Given the description of an element on the screen output the (x, y) to click on. 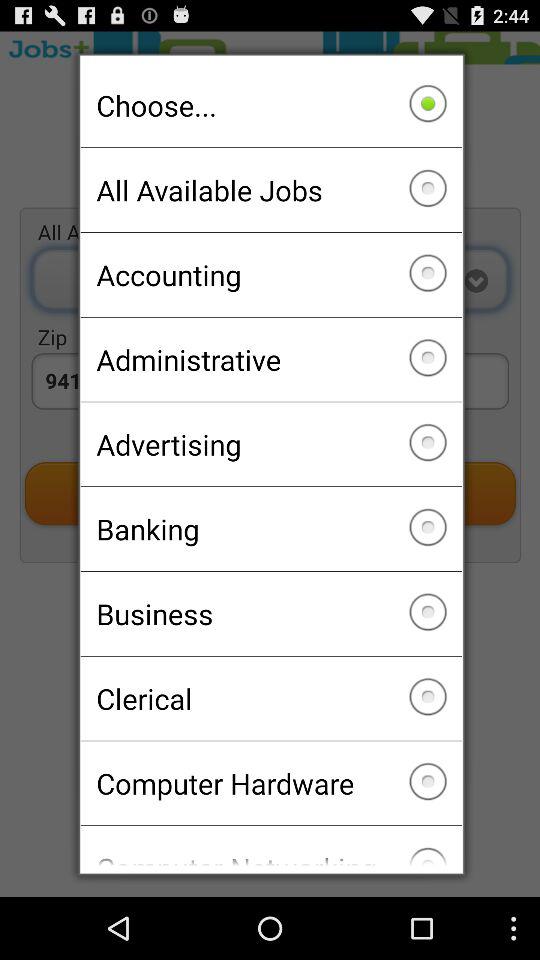
click icon below computer hardware checkbox (270, 846)
